Given the description of an element on the screen output the (x, y) to click on. 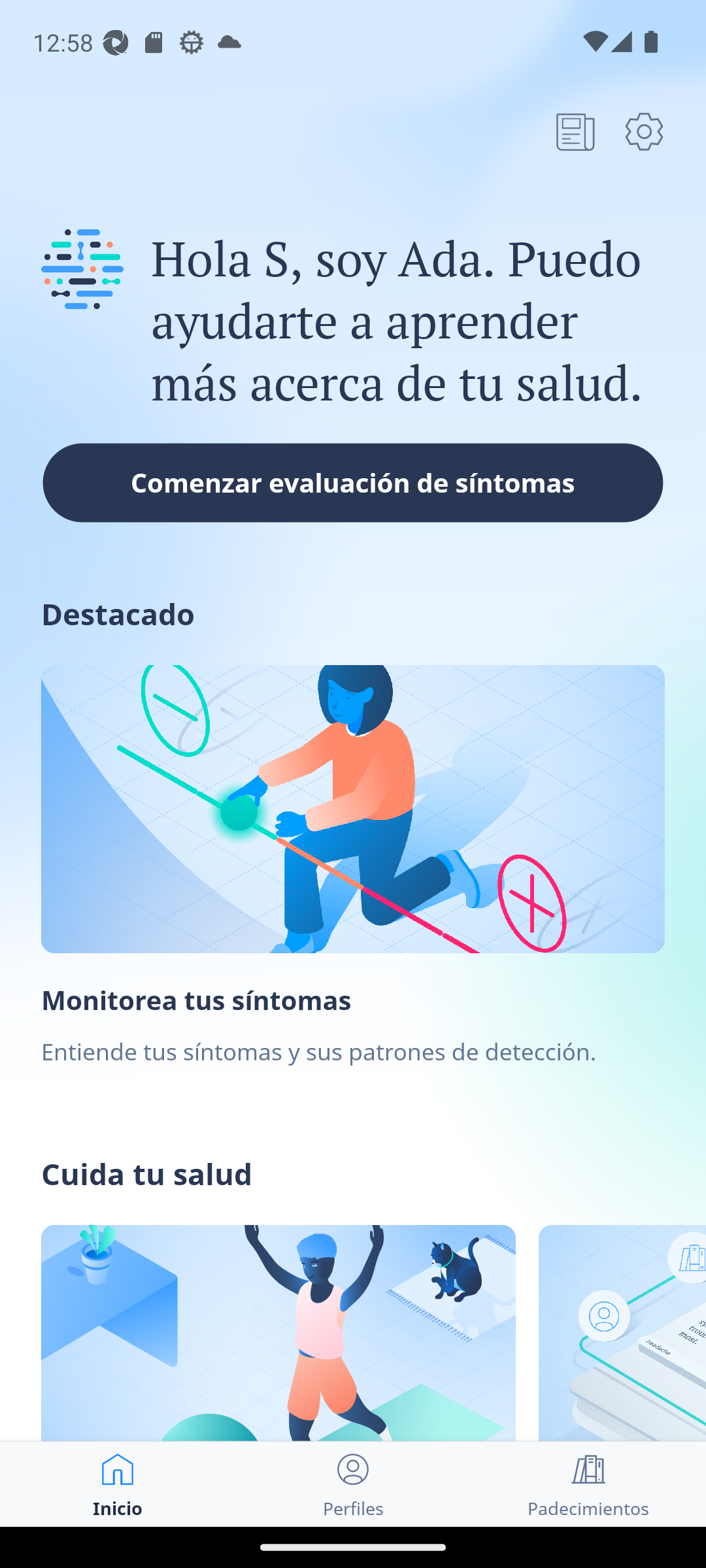
article icon , open articles (574, 131)
settings icon, open settings (644, 131)
Comenzar evaluación de síntomas (352, 482)
Inicio (117, 1484)
Perfiles (352, 1484)
Padecimientos (588, 1484)
